Given the description of an element on the screen output the (x, y) to click on. 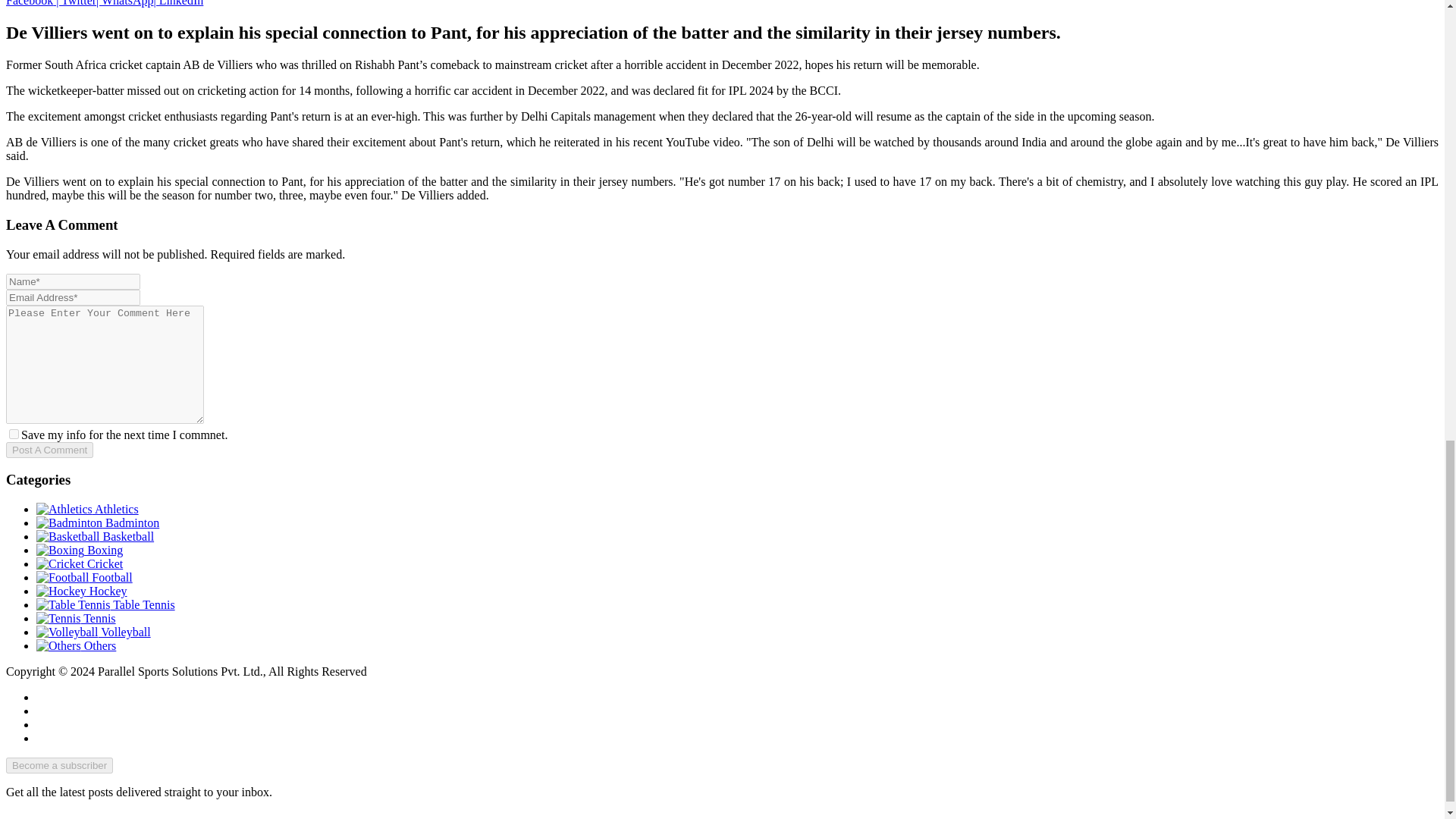
Facebook (28, 3)
on (13, 433)
LinkedIn (177, 3)
WhatsApp (124, 3)
Twitter (74, 3)
